Given the description of an element on the screen output the (x, y) to click on. 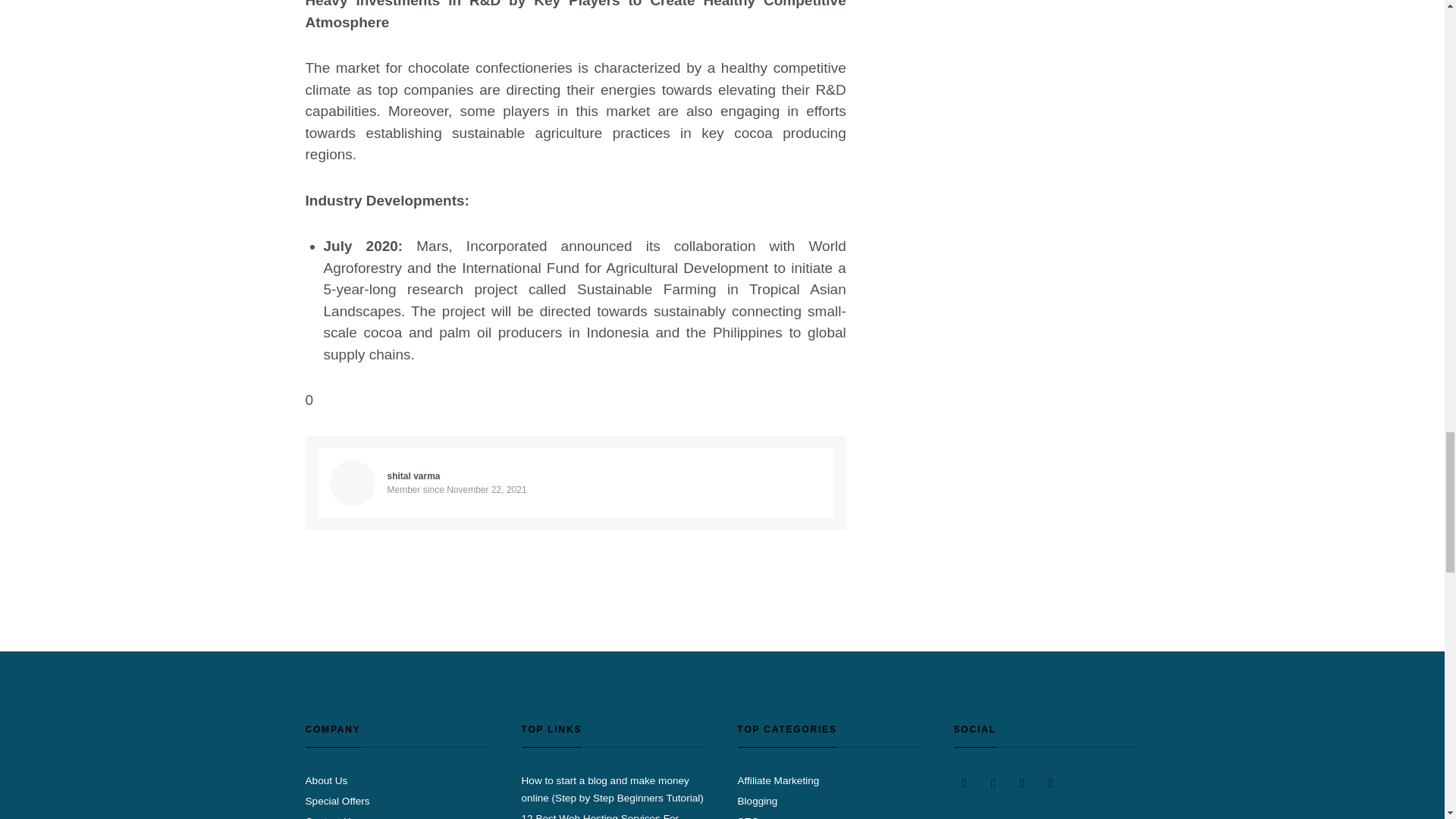
shital varma (413, 475)
